Given the description of an element on the screen output the (x, y) to click on. 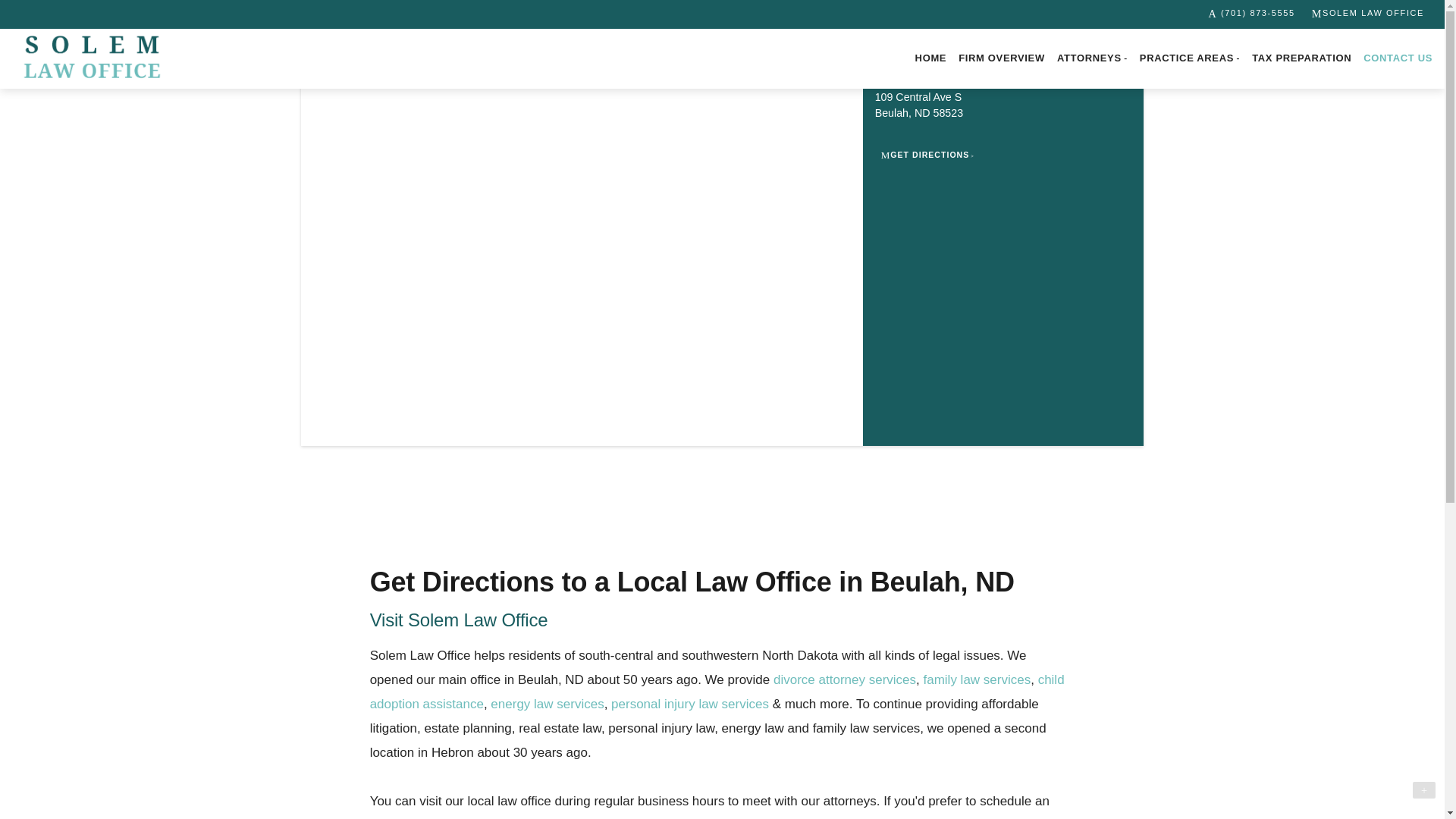
ATTORNEYS (1092, 58)
SOLEM LAW OFFICE (1367, 13)
TAX PREPARATION (1301, 58)
CONTACT US (1397, 58)
HOME (930, 58)
personal injury law services (689, 703)
energy law services (547, 703)
child adoption assistance (716, 691)
Solem Law Office (91, 58)
PRACTICE AREAS (1190, 58)
